Given the description of an element on the screen output the (x, y) to click on. 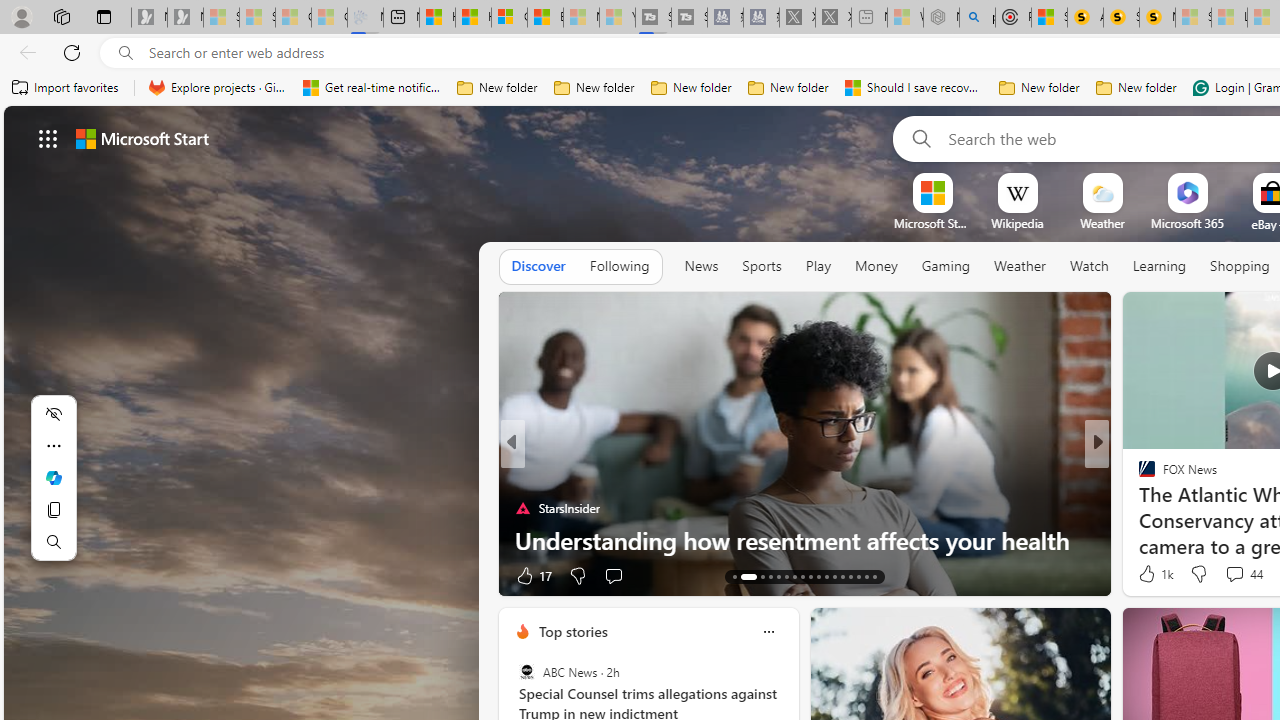
poe - Search (977, 17)
Sports (761, 267)
View comments 1 Comment (1234, 575)
Microsoft start (142, 138)
128 Like (1151, 574)
Streaming Coverage | T3 - Sleeping (653, 17)
AutomationID: tab-19 (793, 576)
